Given the description of an element on the screen output the (x, y) to click on. 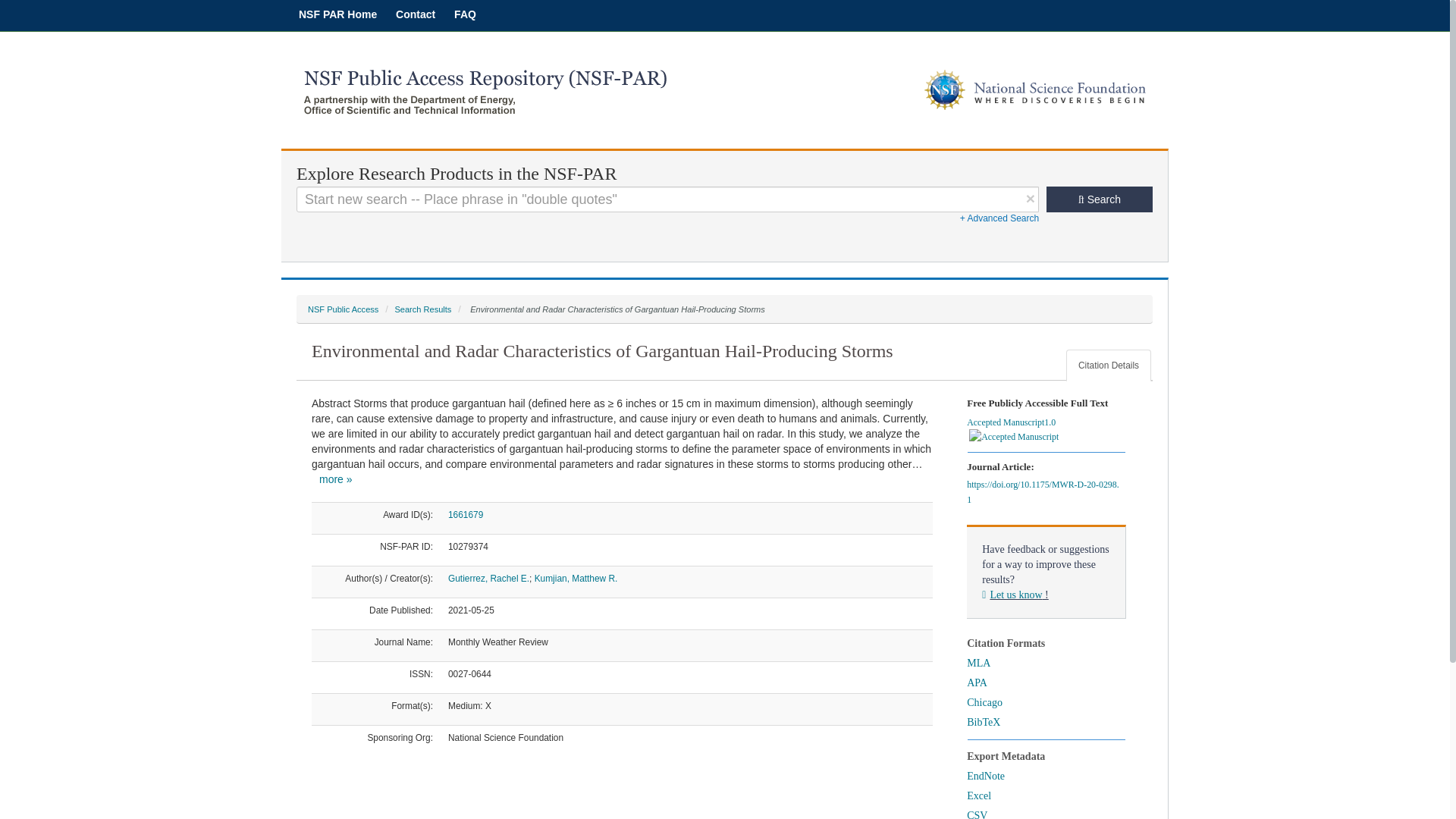
NSF PAR Home (337, 14)
NSF PAR FAQ (464, 14)
Search Results (422, 308)
1661679 (465, 514)
Citation Details (1108, 365)
Search (1099, 199)
Contact (415, 14)
NSF PAR Contact (415, 14)
NSF PAR Home (337, 14)
FAQ (464, 14)
Gutierrez, Rachel E. (488, 578)
Kumjian, Matthew R. (575, 578)
NSF Public Access (342, 308)
